Given the description of an element on the screen output the (x, y) to click on. 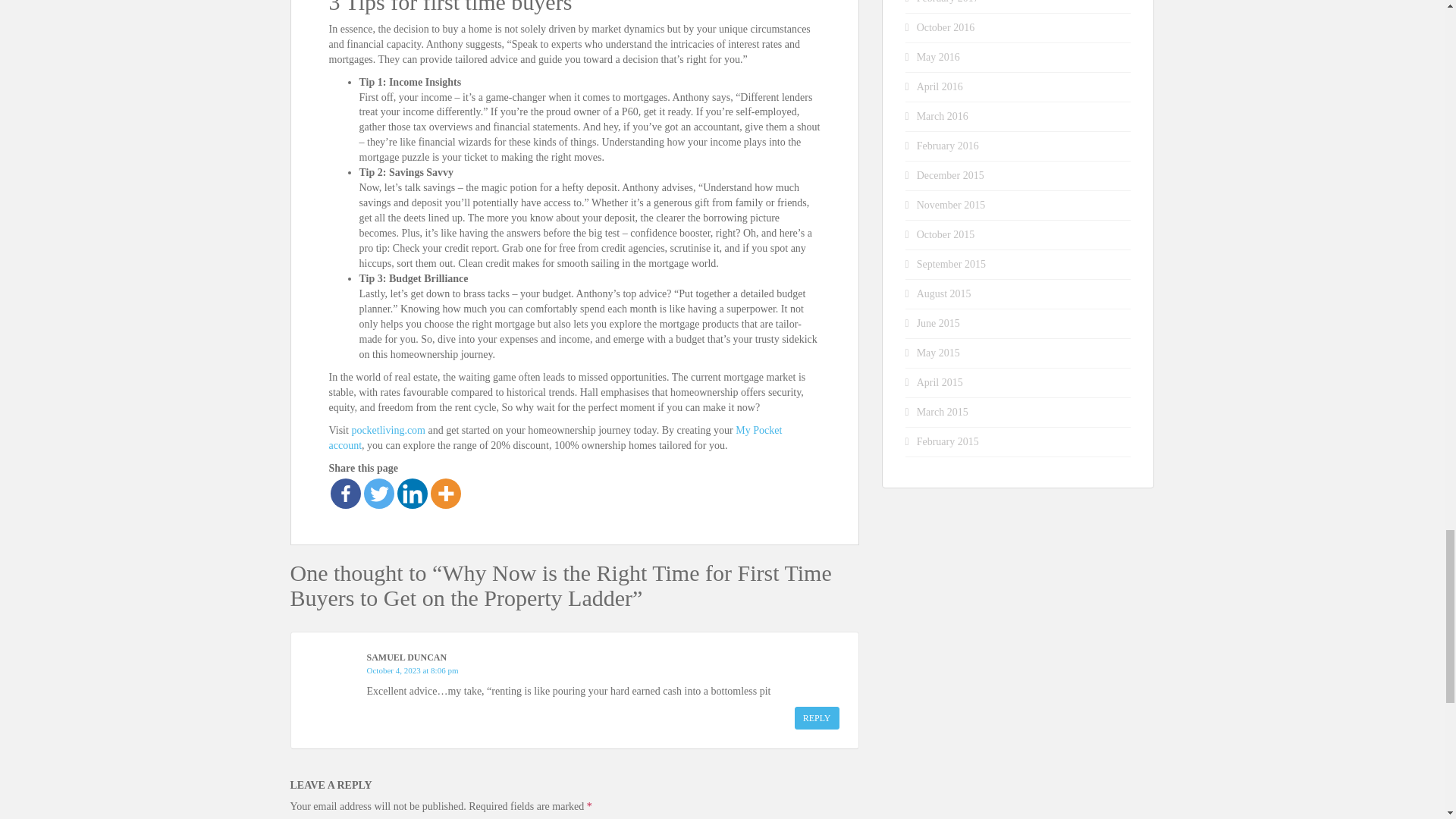
Twitter (379, 493)
Linkedin (412, 493)
REPLY (817, 717)
pocketliving.com (387, 430)
More (445, 493)
My Pocket account (556, 438)
October 4, 2023 at 8:06 pm (412, 669)
Facebook (345, 493)
